Given the description of an element on the screen output the (x, y) to click on. 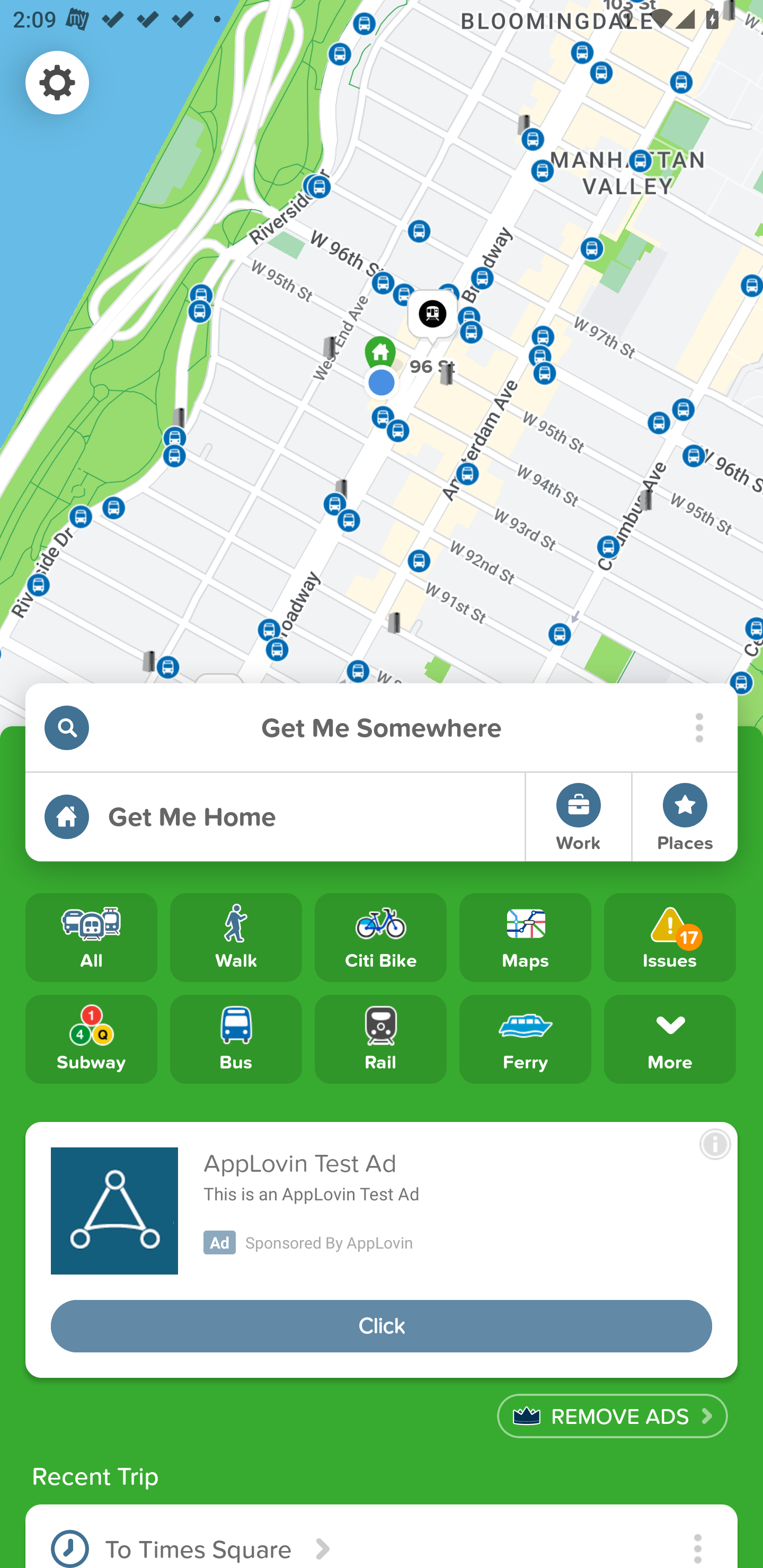
Places (684, 816)
